Given the description of an element on the screen output the (x, y) to click on. 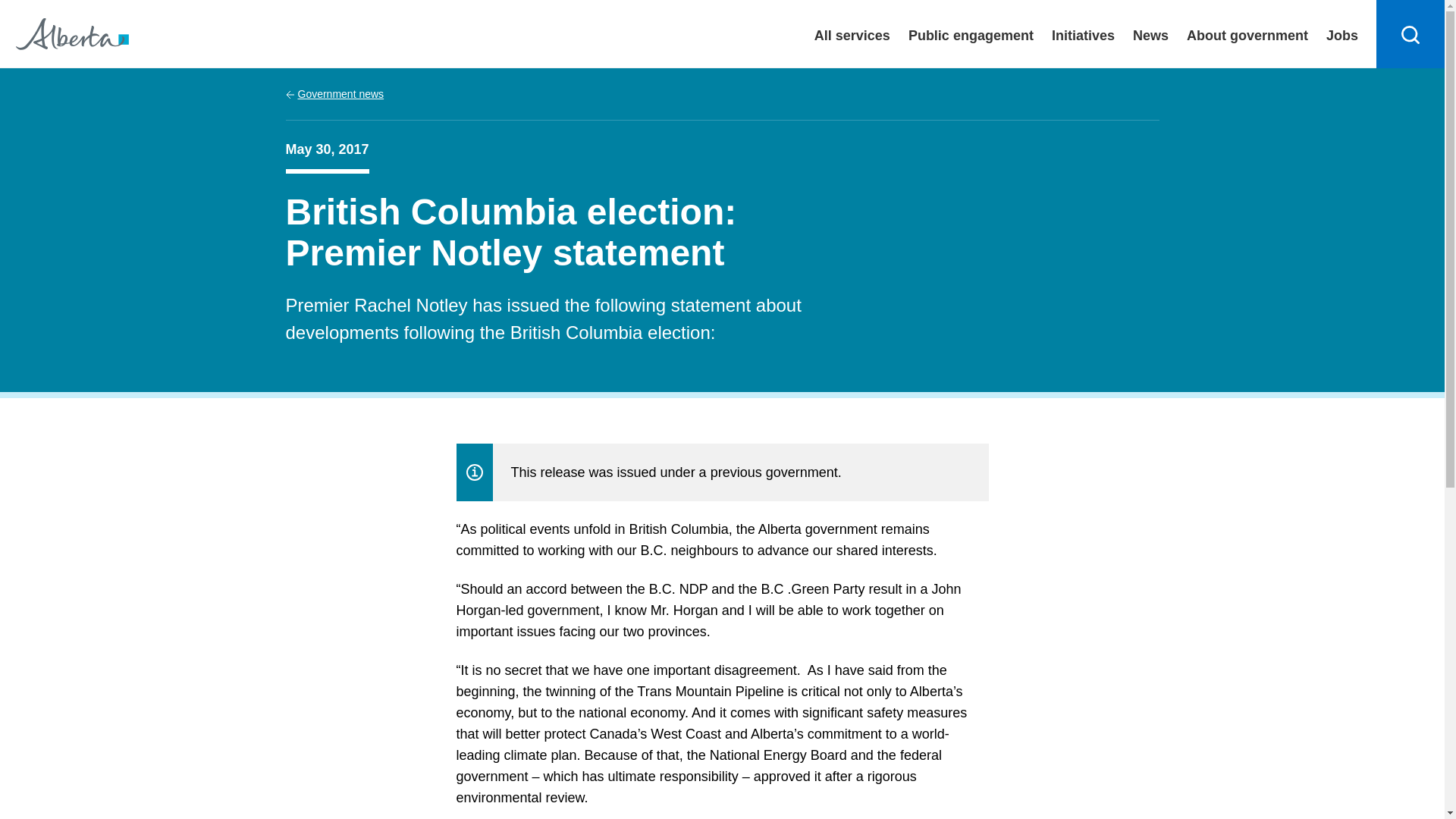
Government news (334, 93)
All services (852, 33)
Public engagement (970, 33)
About government (1247, 33)
Initiatives (1083, 33)
